Given the description of an element on the screen output the (x, y) to click on. 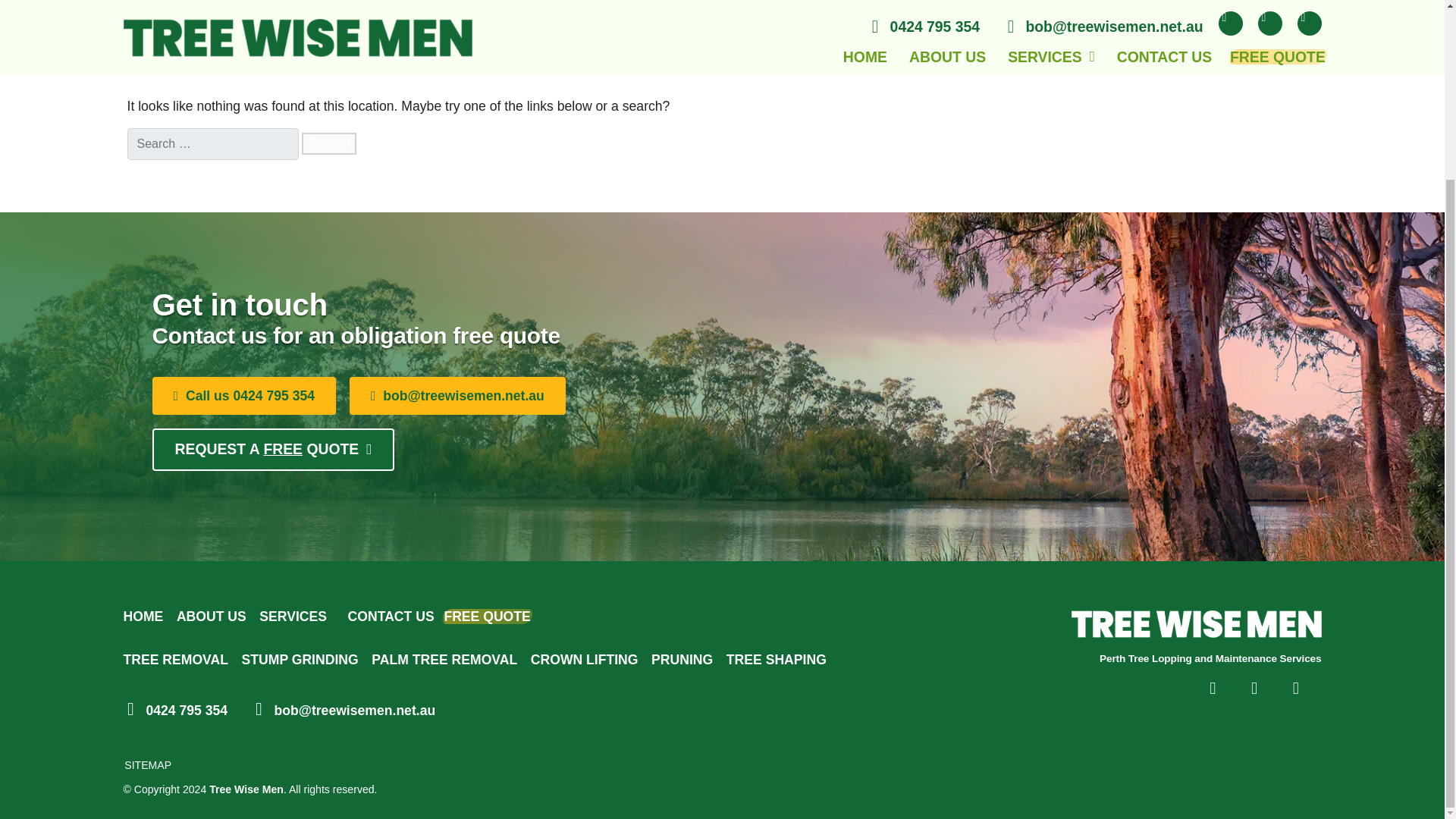
Search (328, 143)
Search (328, 143)
